Given the description of an element on the screen output the (x, y) to click on. 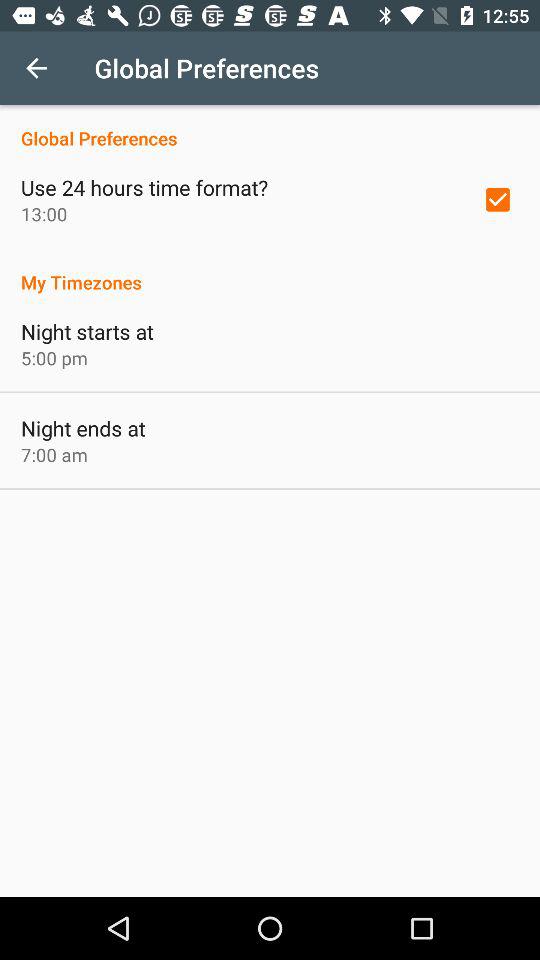
turn on use 24 hours icon (144, 187)
